Given the description of an element on the screen output the (x, y) to click on. 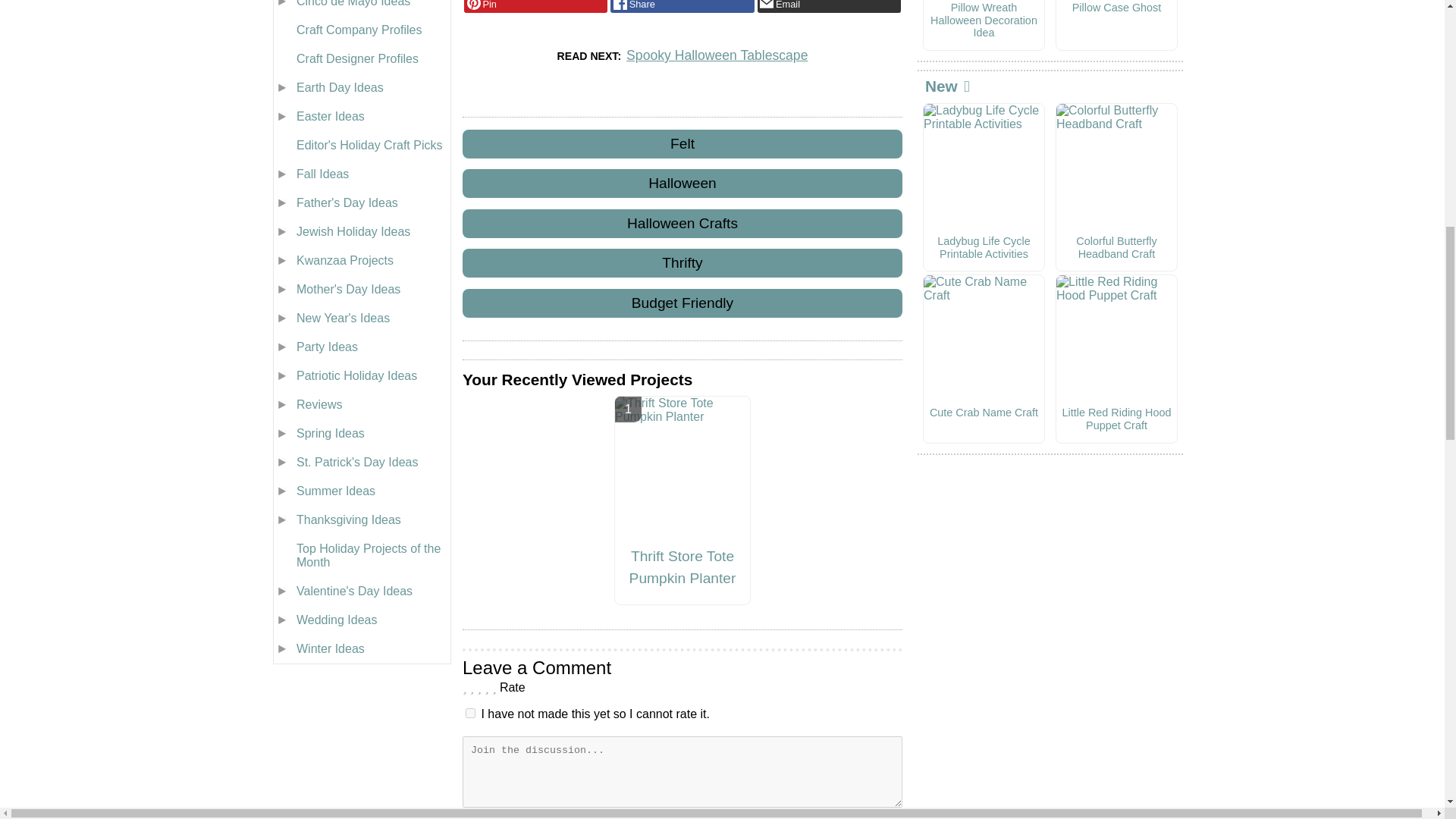
1 (470, 713)
Email (829, 6)
Facebook (682, 6)
Submit (681, 818)
